Given the description of an element on the screen output the (x, y) to click on. 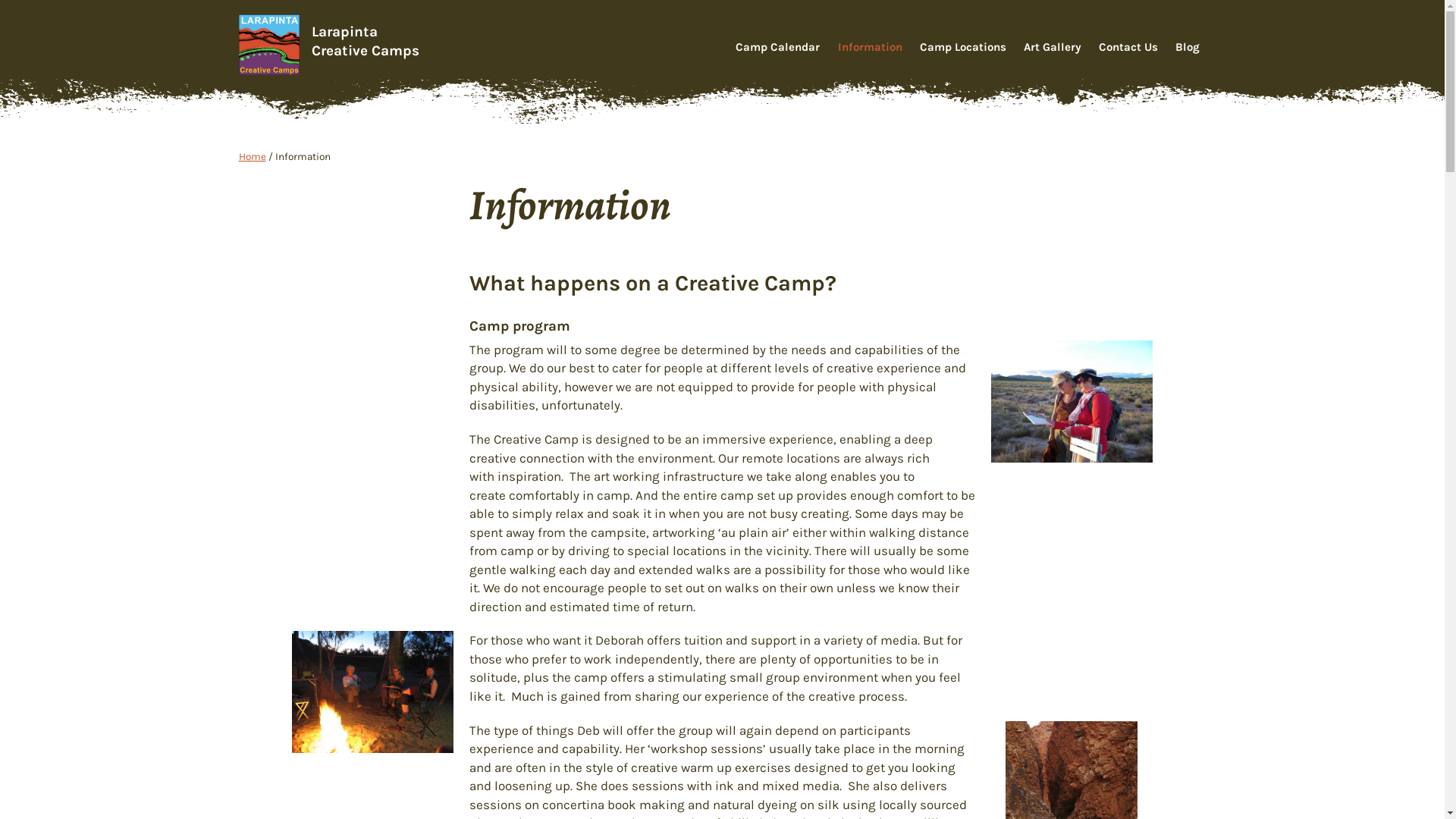
Blog Element type: text (1187, 47)
Information Element type: text (870, 47)
Contact Us Element type: text (1128, 47)
Art Gallery Element type: text (1052, 47)
Home Element type: text (251, 156)
Camp Calendar Element type: text (778, 47)
Larapinta Creative Camps Element type: text (364, 41)
Camp Locations Element type: text (963, 47)
